Given the description of an element on the screen output the (x, y) to click on. 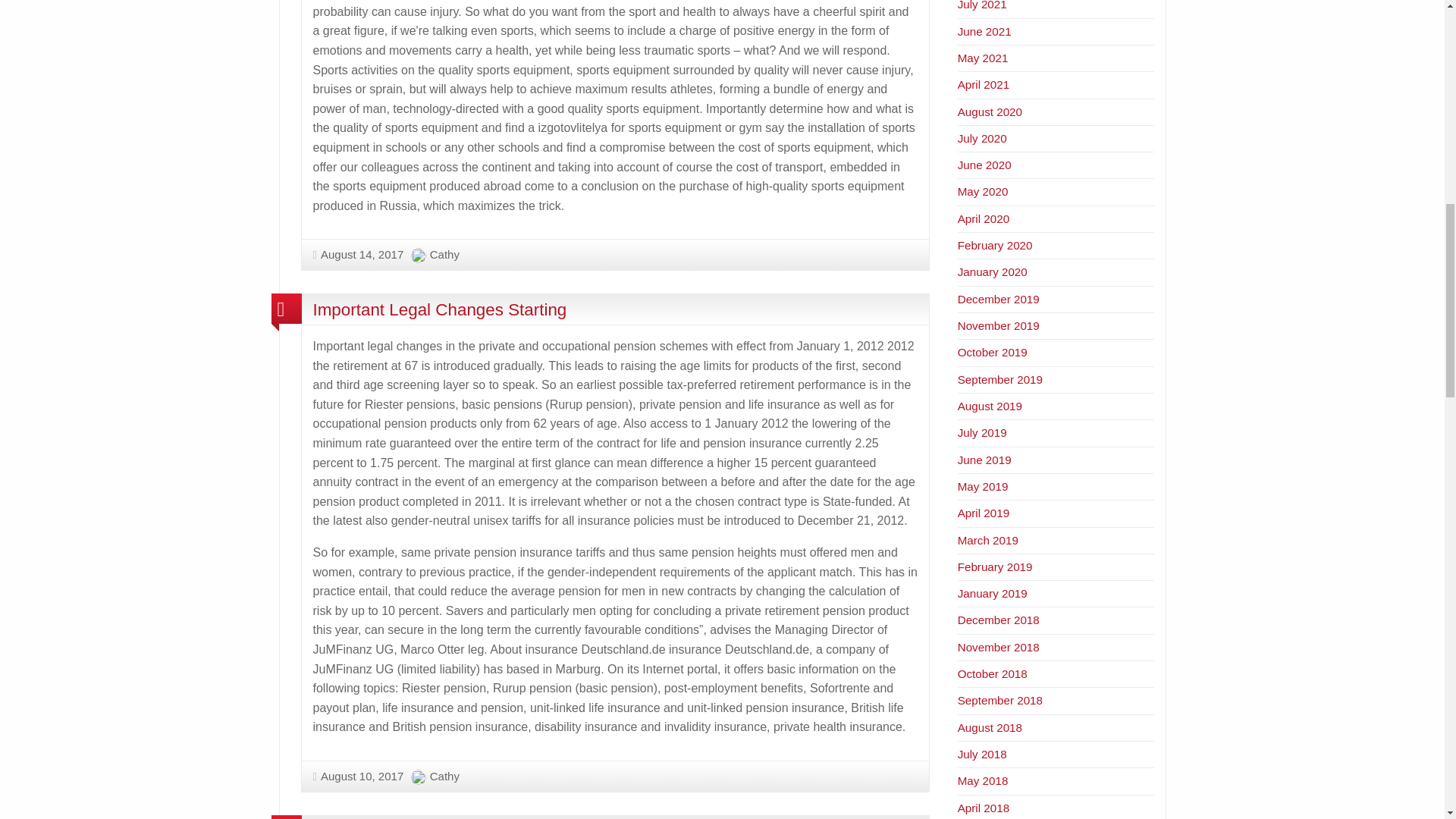
August 10, 2017 (358, 775)
Important Legal Changes Starting (439, 309)
Cathy (444, 254)
August 14, 2017 (358, 254)
July 2021 (982, 5)
Cathy (444, 775)
